Given the description of an element on the screen output the (x, y) to click on. 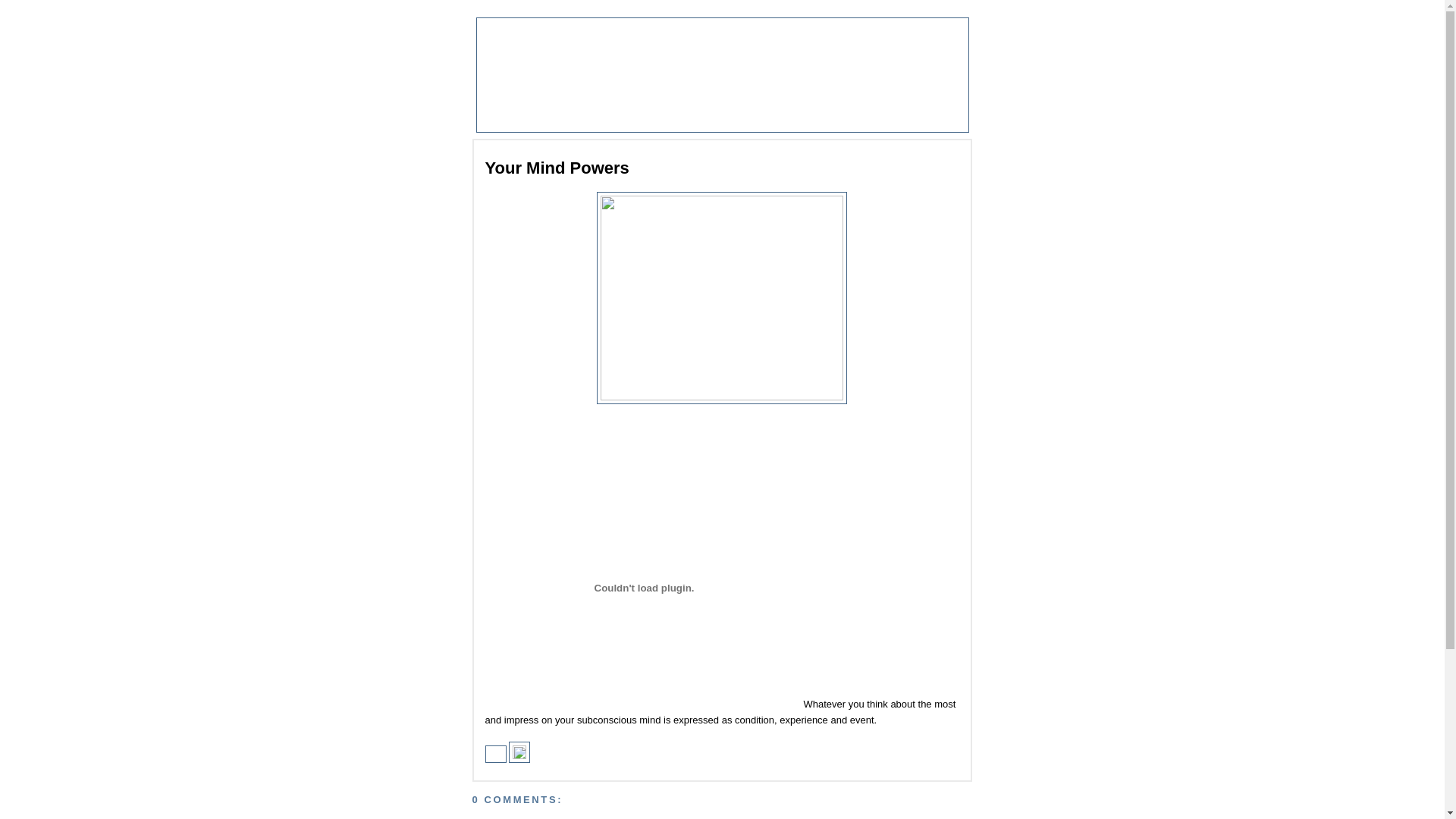
Edit Post Element type: hover (519, 756)
Email Post Element type: hover (497, 756)
Your Mind Powers Element type: text (691, 168)
